Given the description of an element on the screen output the (x, y) to click on. 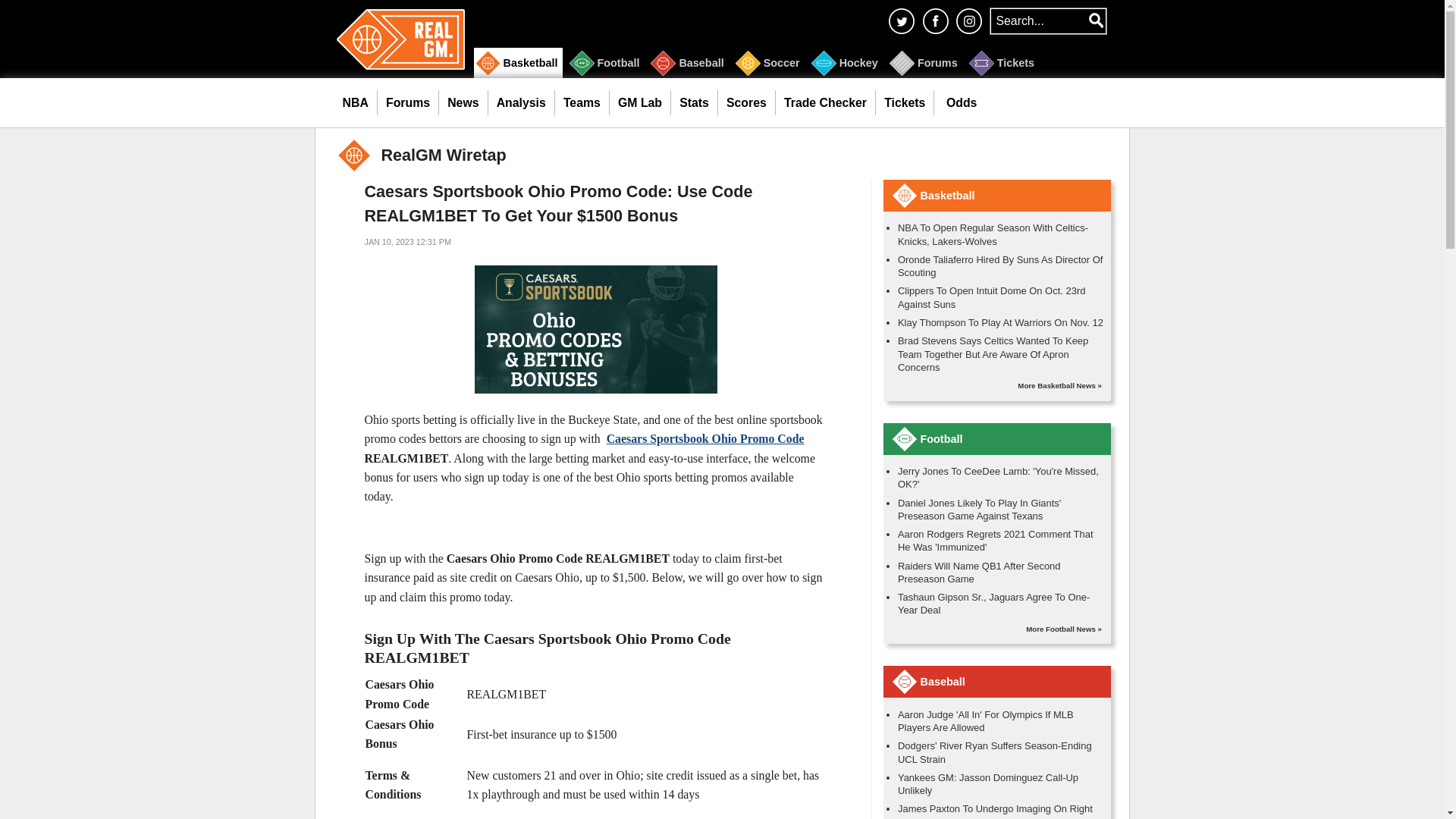
RealGM on Instagram (969, 20)
RealGM on Twitter (901, 20)
Soccer (769, 62)
Forums (407, 102)
NBA (355, 102)
Football (605, 62)
Tickets (1002, 62)
Forums (924, 62)
Hockey (845, 62)
Baseball (688, 62)
